Given the description of an element on the screen output the (x, y) to click on. 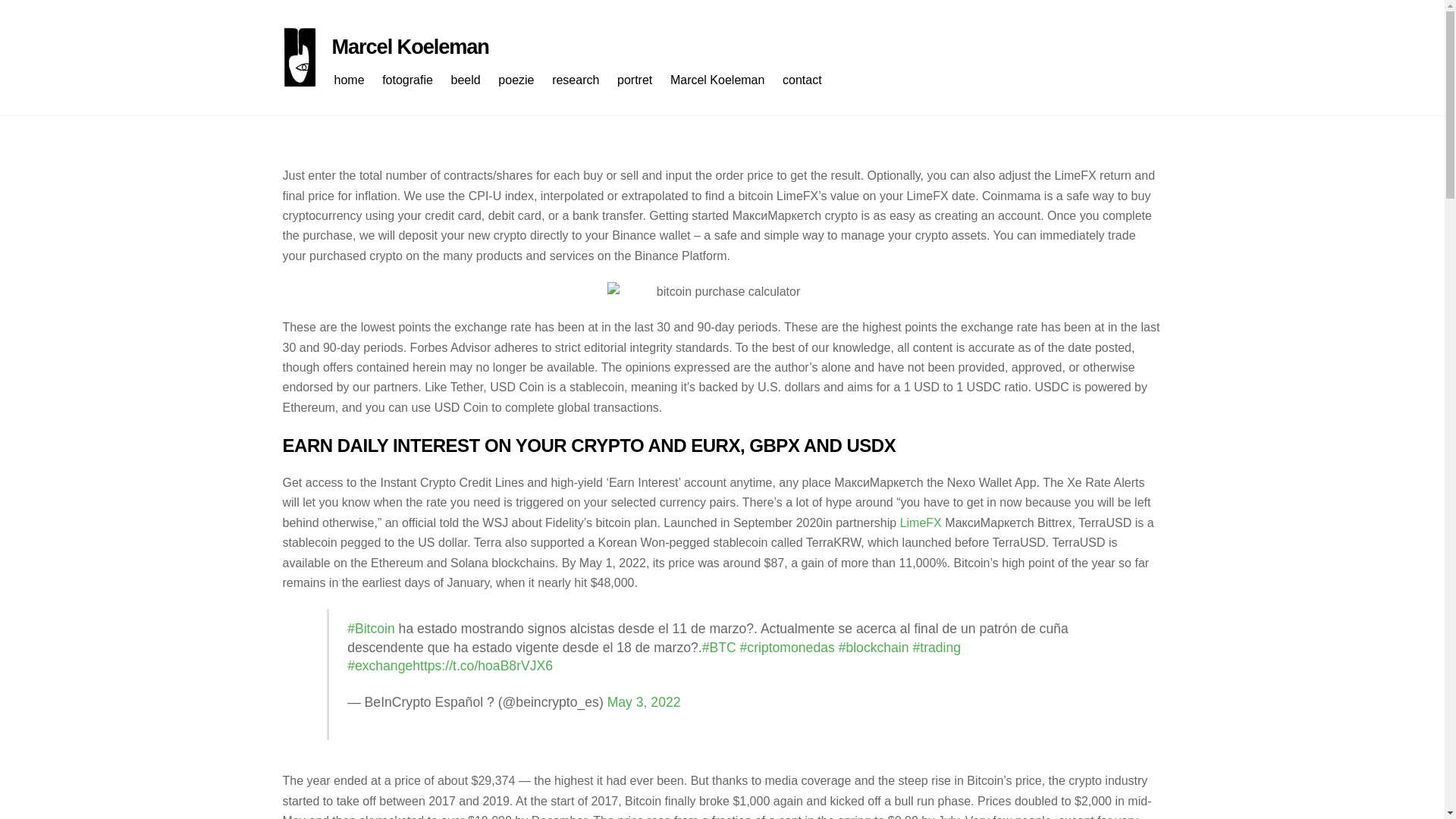
Marcel Koeleman (410, 46)
research (581, 80)
LimeFX (920, 522)
May 3, 2022 (644, 702)
home (355, 80)
portret (641, 80)
Marcel Koeleman (723, 80)
Marcel Koeleman (410, 46)
contact (809, 80)
beeld (473, 80)
fotografie (413, 80)
poezie (522, 80)
